Given the description of an element on the screen output the (x, y) to click on. 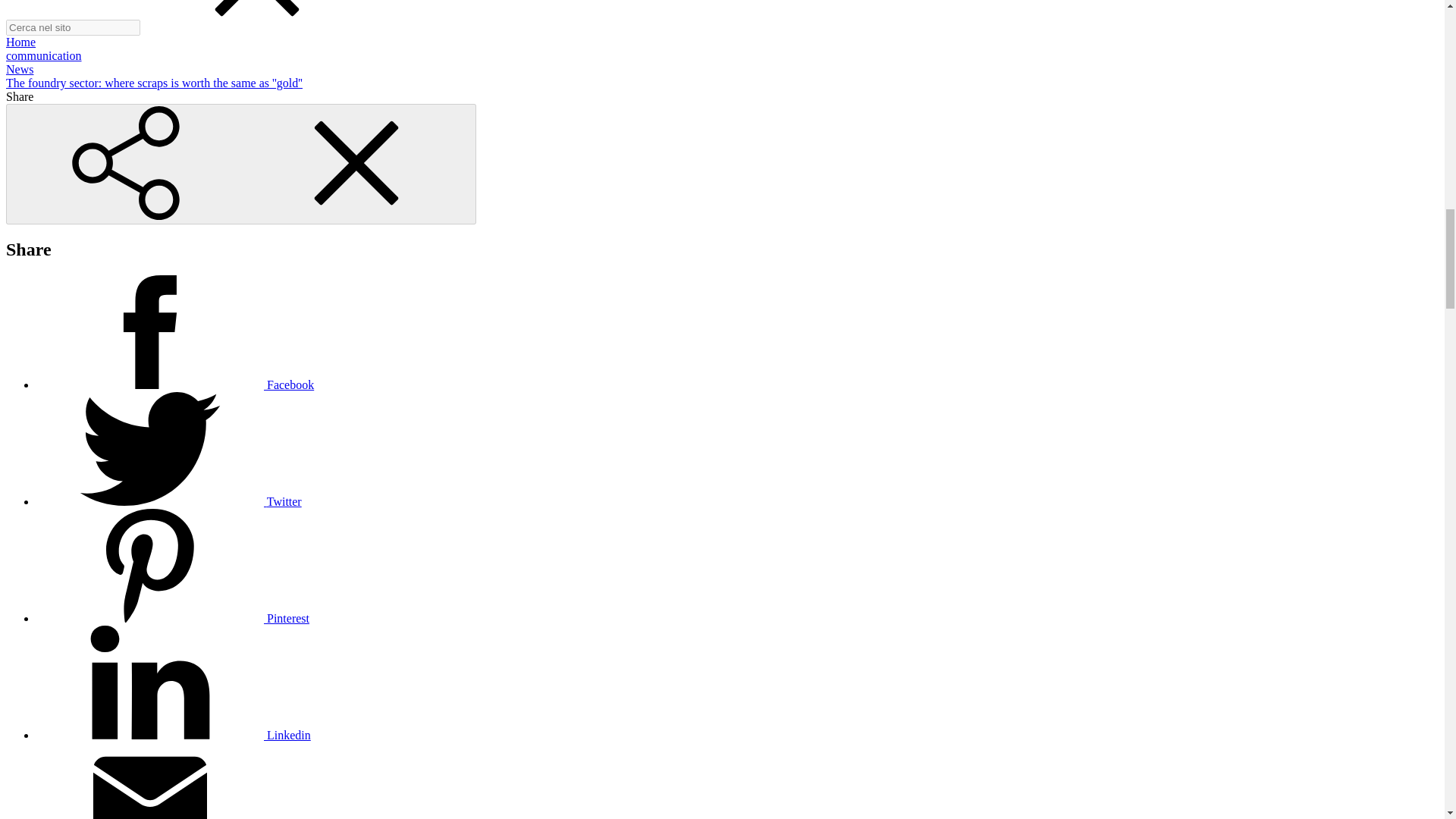
Facebook (175, 384)
Home (19, 42)
News (19, 69)
communication (43, 55)
